Given the description of an element on the screen output the (x, y) to click on. 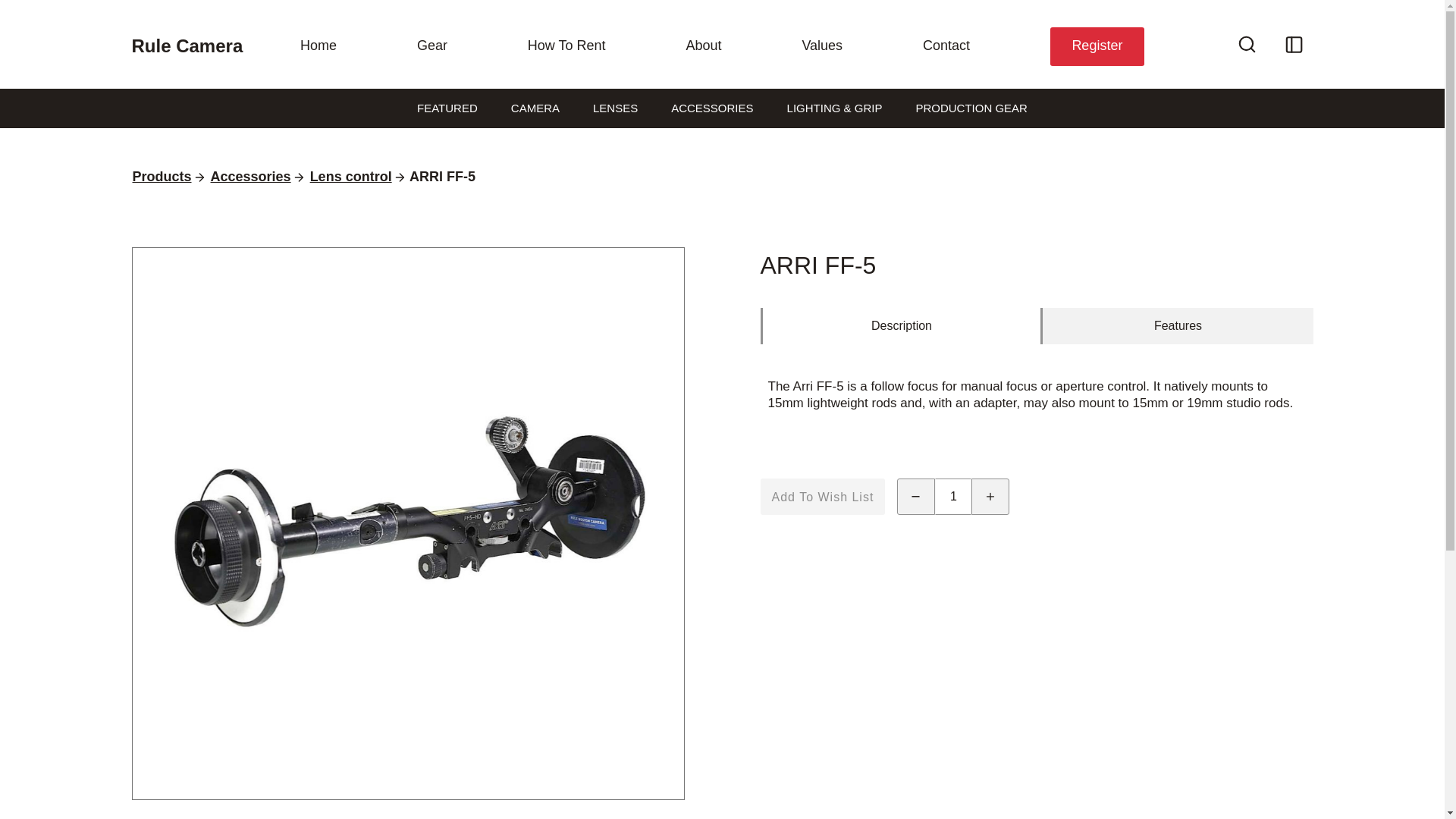
Register (1096, 46)
Rule Camera (192, 45)
1 (952, 496)
Features (1177, 325)
Lens control (350, 177)
Values (822, 46)
Products (162, 177)
Contact (946, 46)
Home (317, 46)
PRODUCTION GEAR (970, 107)
